Given the description of an element on the screen output the (x, y) to click on. 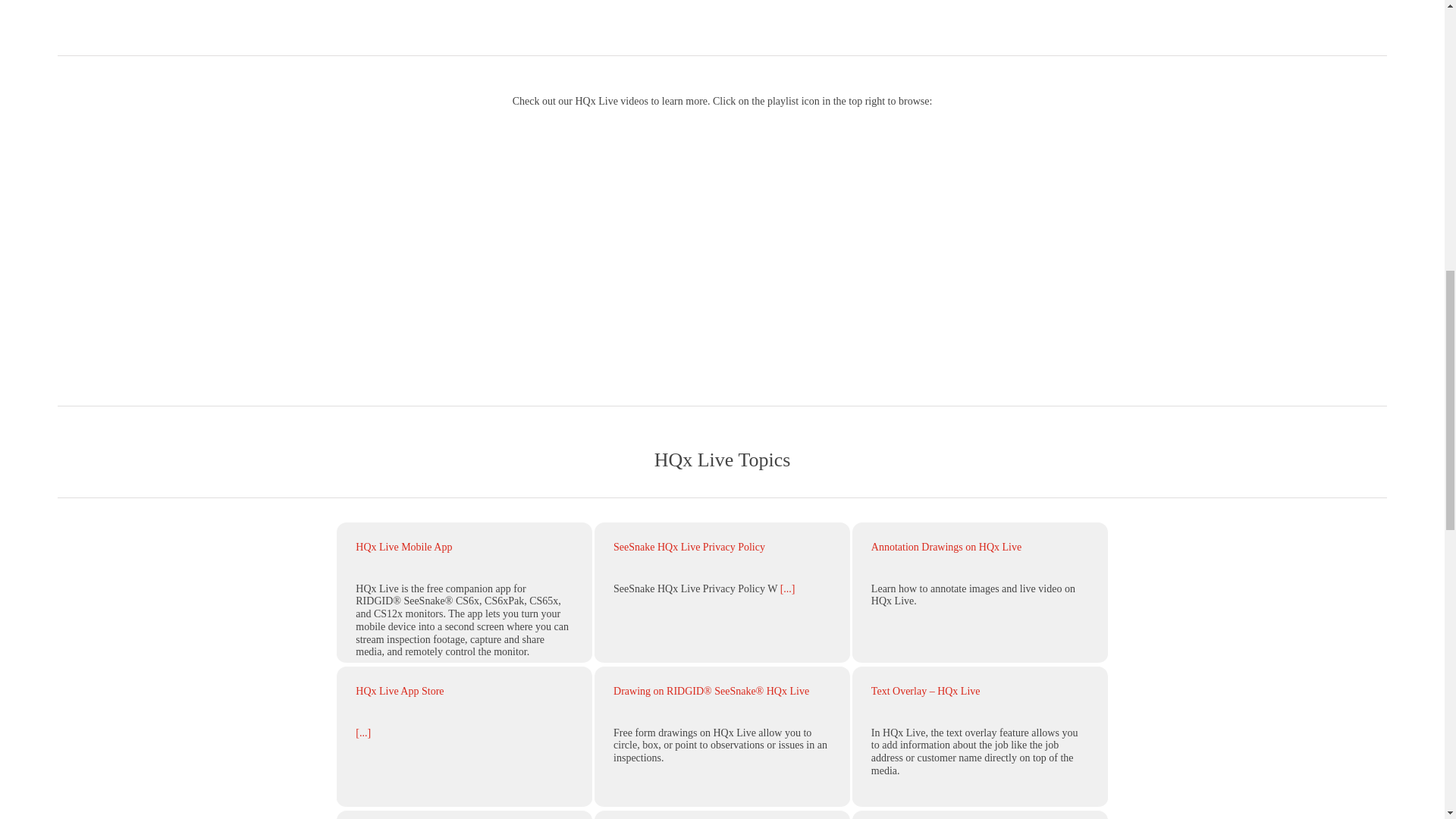
SeeSnake HQx Live Privacy Policy (688, 546)
YouTube video player (721, 242)
Annotation Drawings on HQx Live (946, 546)
HQx Live Mobile App (403, 546)
HQx Live App Store (399, 690)
